Given the description of an element on the screen output the (x, y) to click on. 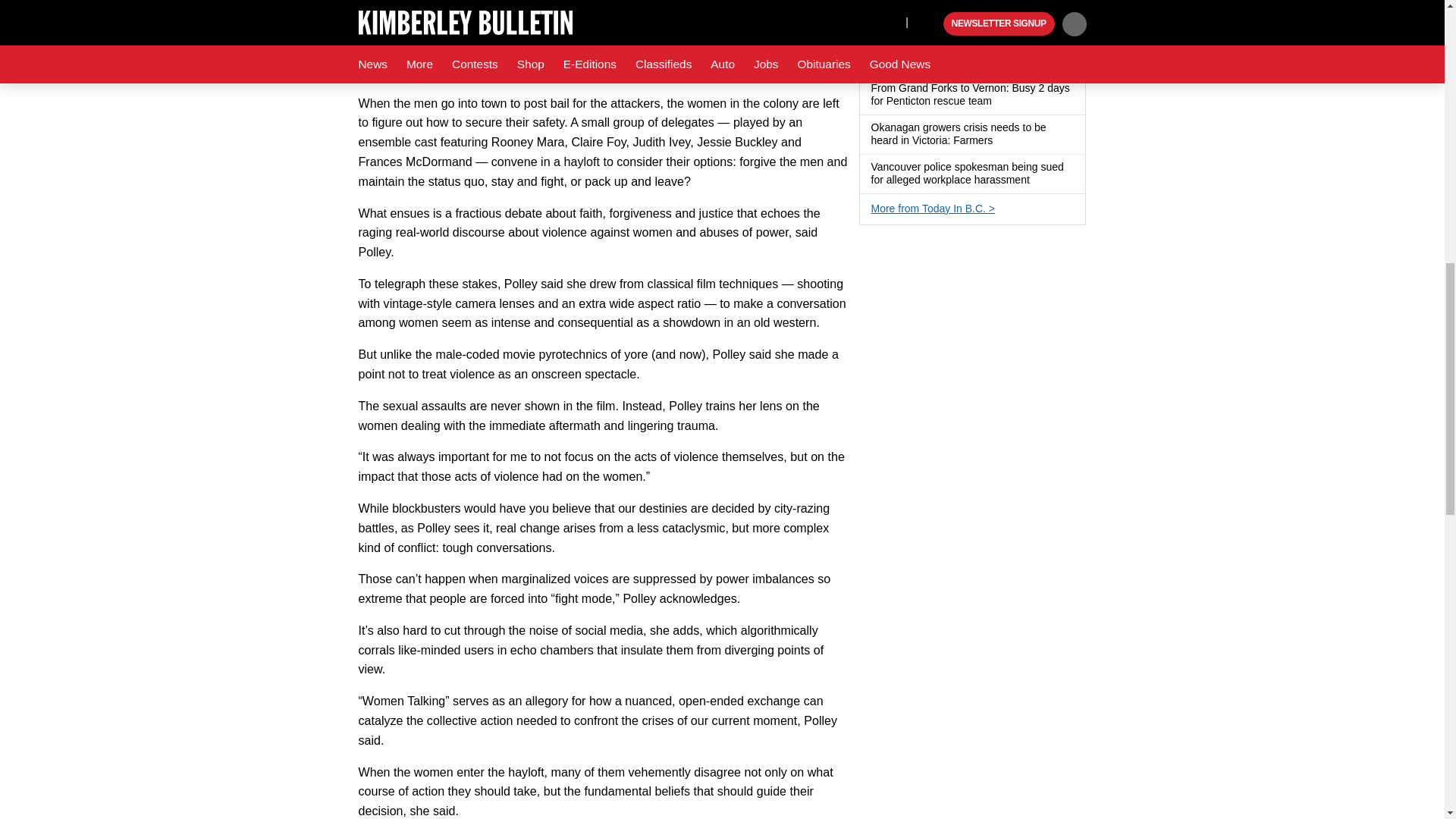
Has a gallery (1001, 141)
